Given the description of an element on the screen output the (x, y) to click on. 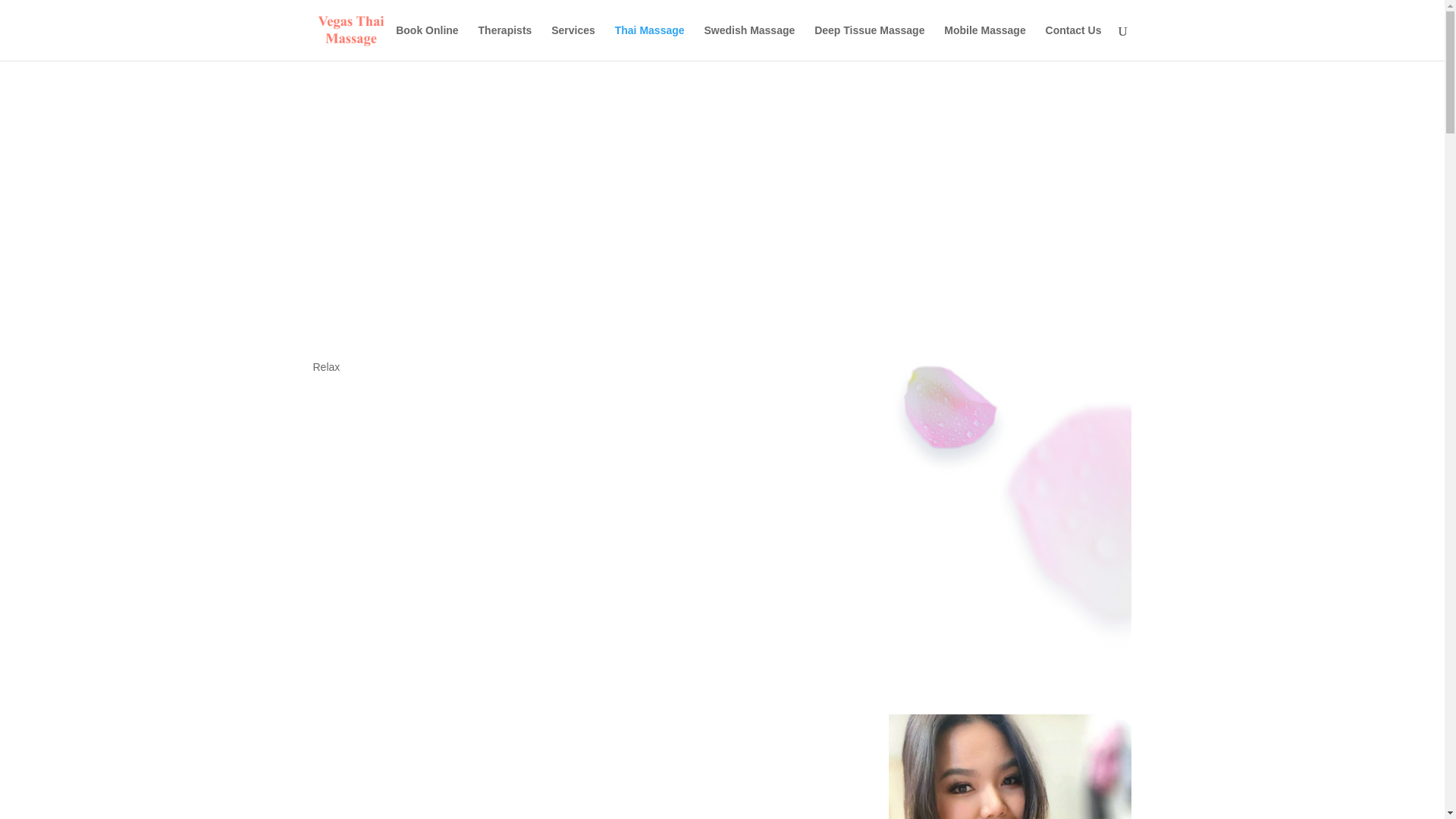
Dao-thai-massage (1009, 766)
Contact Us (1073, 42)
Thai Massage (649, 42)
Swedish Massage (748, 42)
Services (573, 42)
Deep Tissue Massage (868, 42)
Therapists (505, 42)
Mobile Massage (984, 42)
Book Online (427, 42)
